Given the description of an element on the screen output the (x, y) to click on. 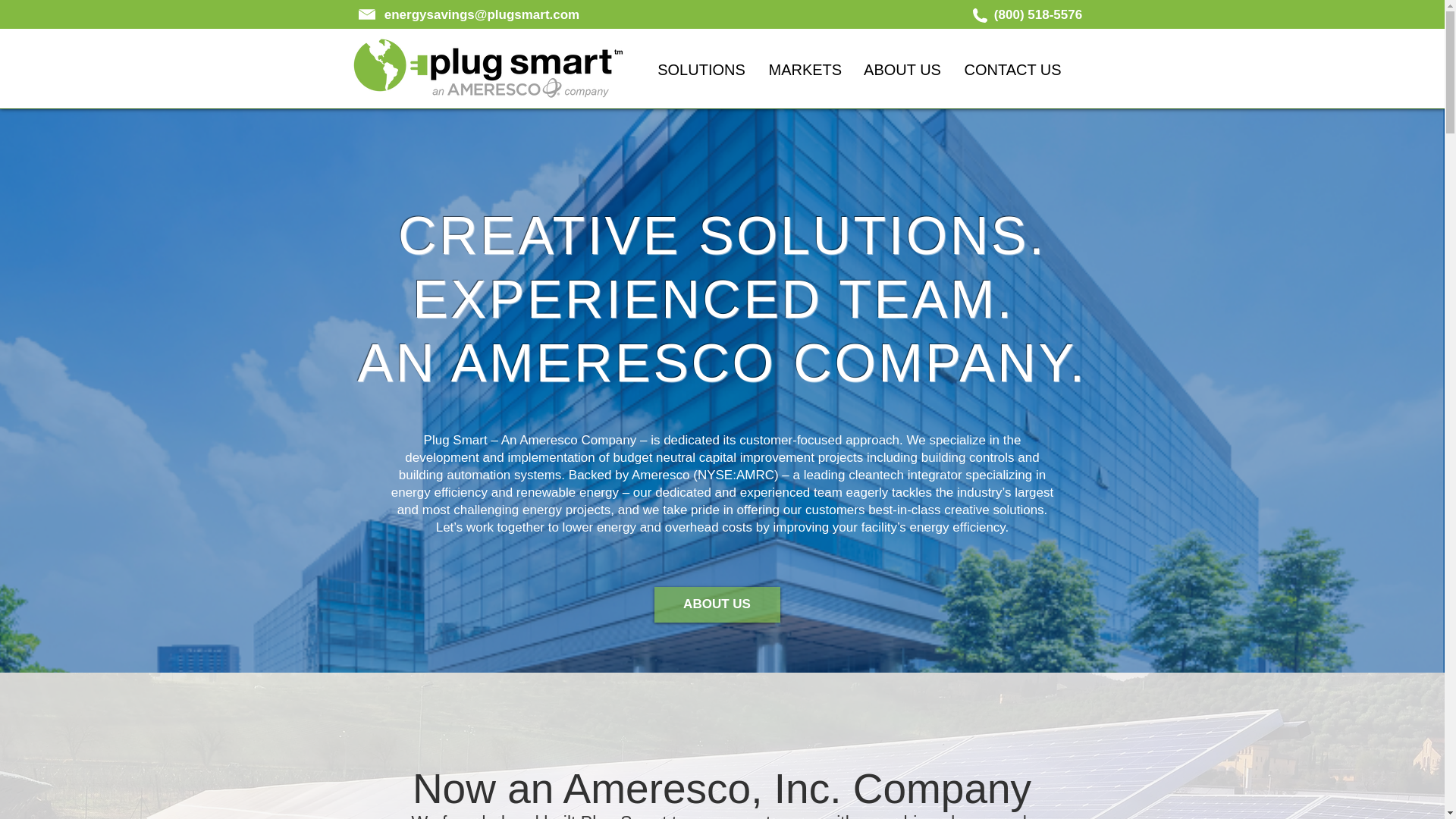
MARKETS (804, 67)
ABOUT US (902, 67)
HOME (610, 67)
CONTACT US (1011, 67)
SOLUTIONS (701, 67)
ABOUT US (715, 604)
